Given the description of an element on the screen output the (x, y) to click on. 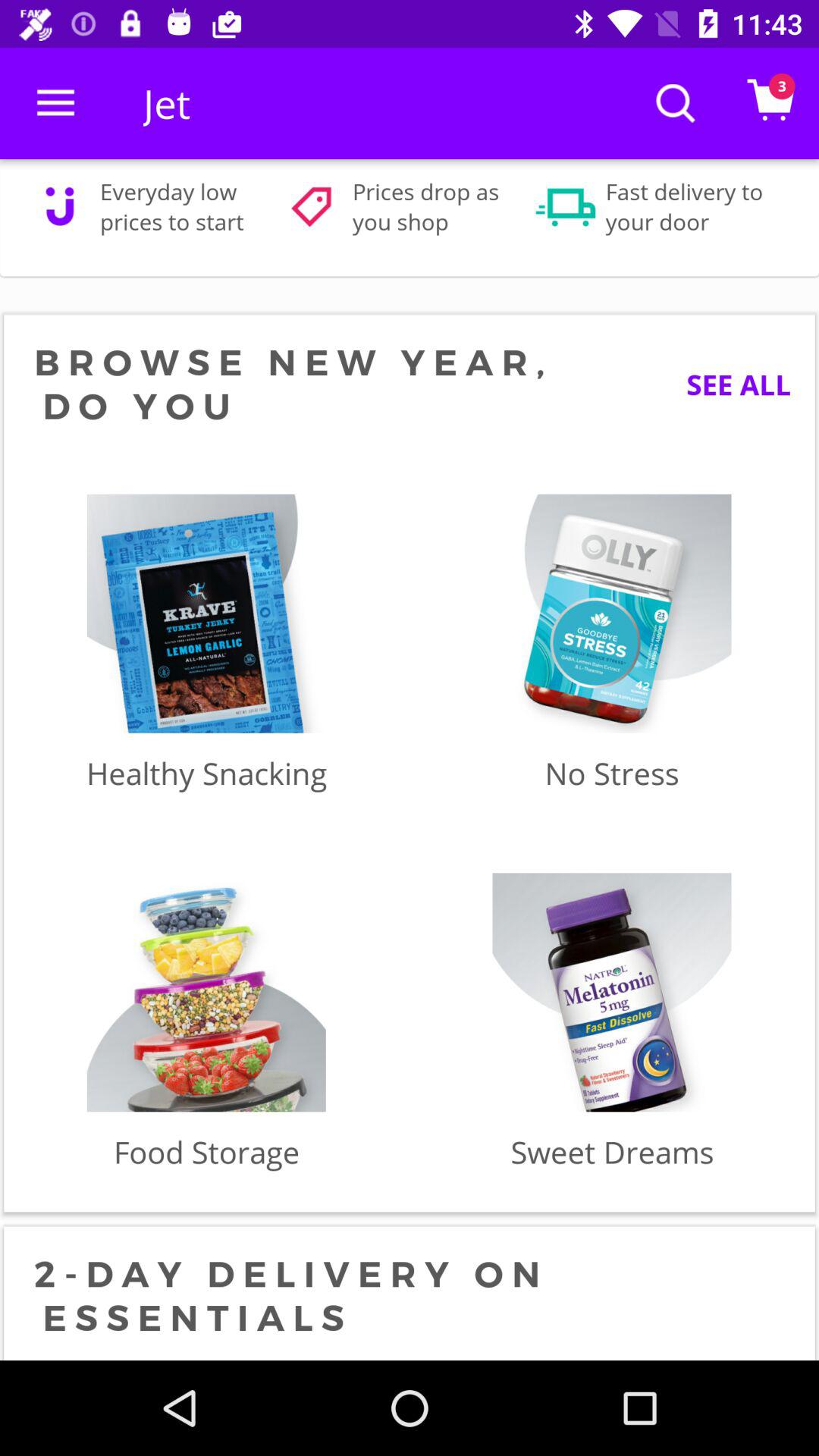
press see all (727, 384)
